Given the description of an element on the screen output the (x, y) to click on. 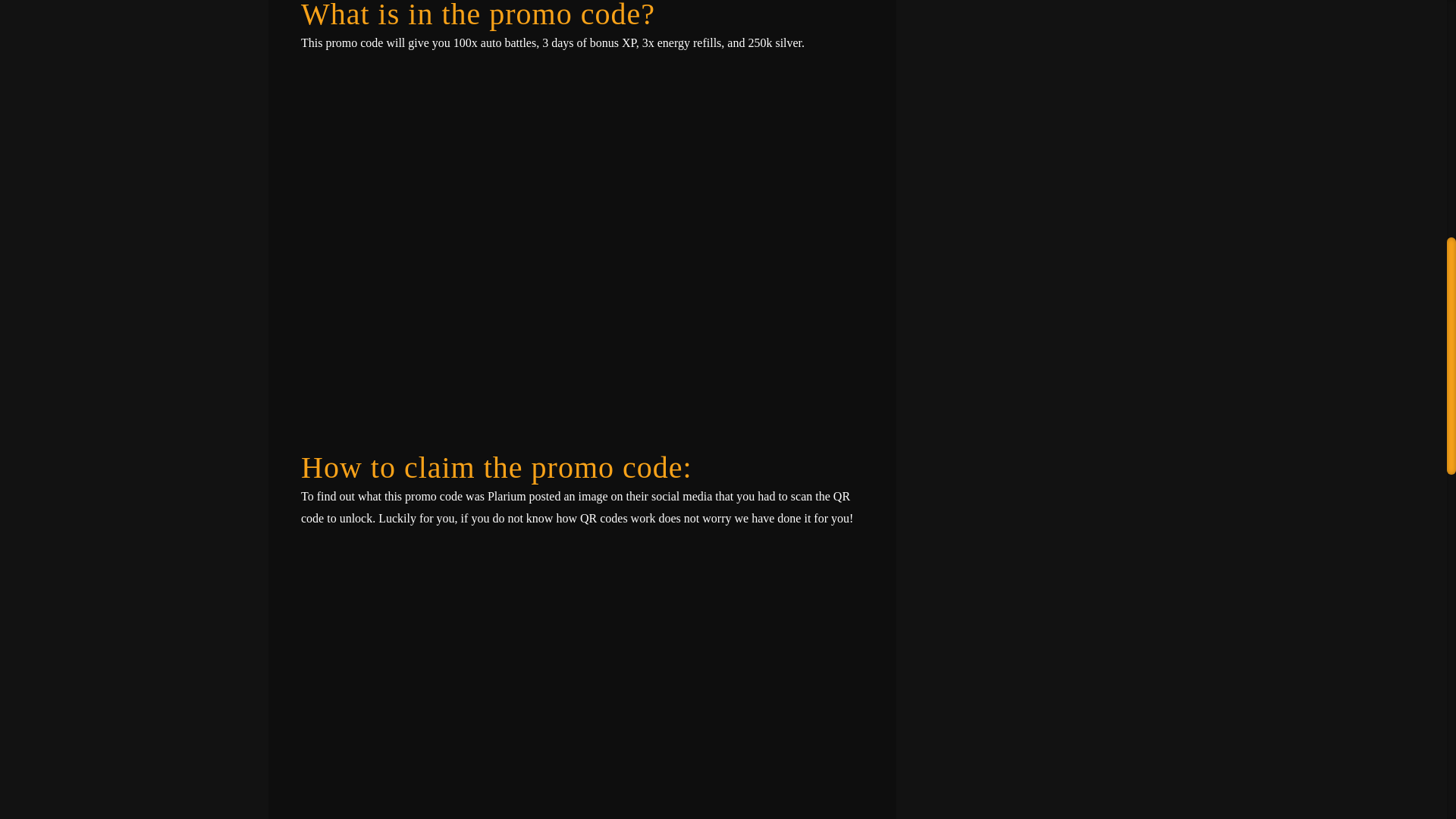
promo-code (582, 681)
